Given the description of an element on the screen output the (x, y) to click on. 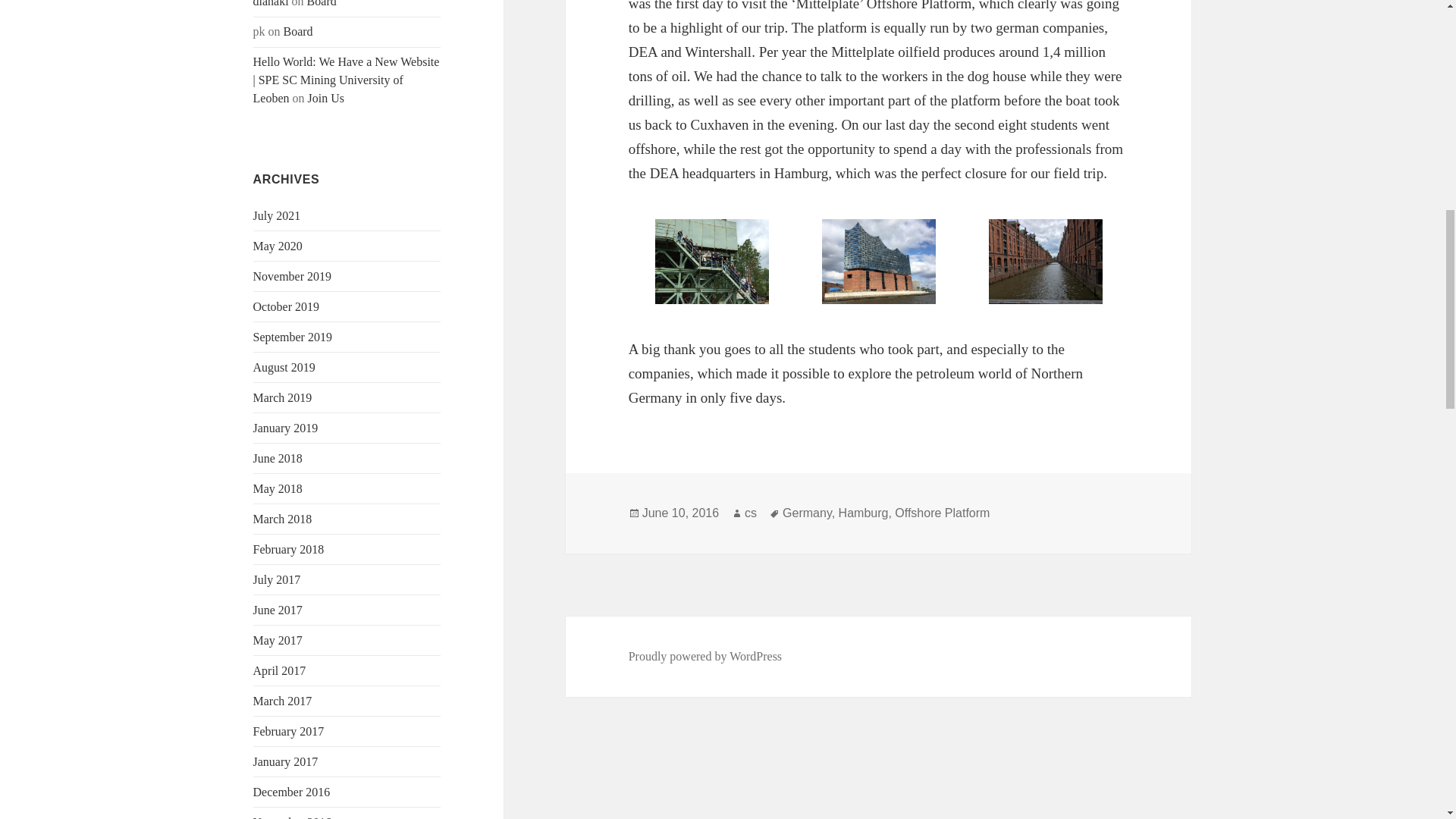
March 2019 (283, 397)
September 2019 (292, 336)
August 2019 (284, 367)
January 2019 (285, 427)
February 2017 (288, 730)
Board (298, 31)
November 2019 (292, 276)
June 2017 (277, 609)
May 2017 (277, 640)
March 2018 (283, 518)
July 2017 (277, 579)
June 2018 (277, 458)
November 2016 (292, 817)
May 2020 (277, 245)
Join Us (325, 97)
